Given the description of an element on the screen output the (x, y) to click on. 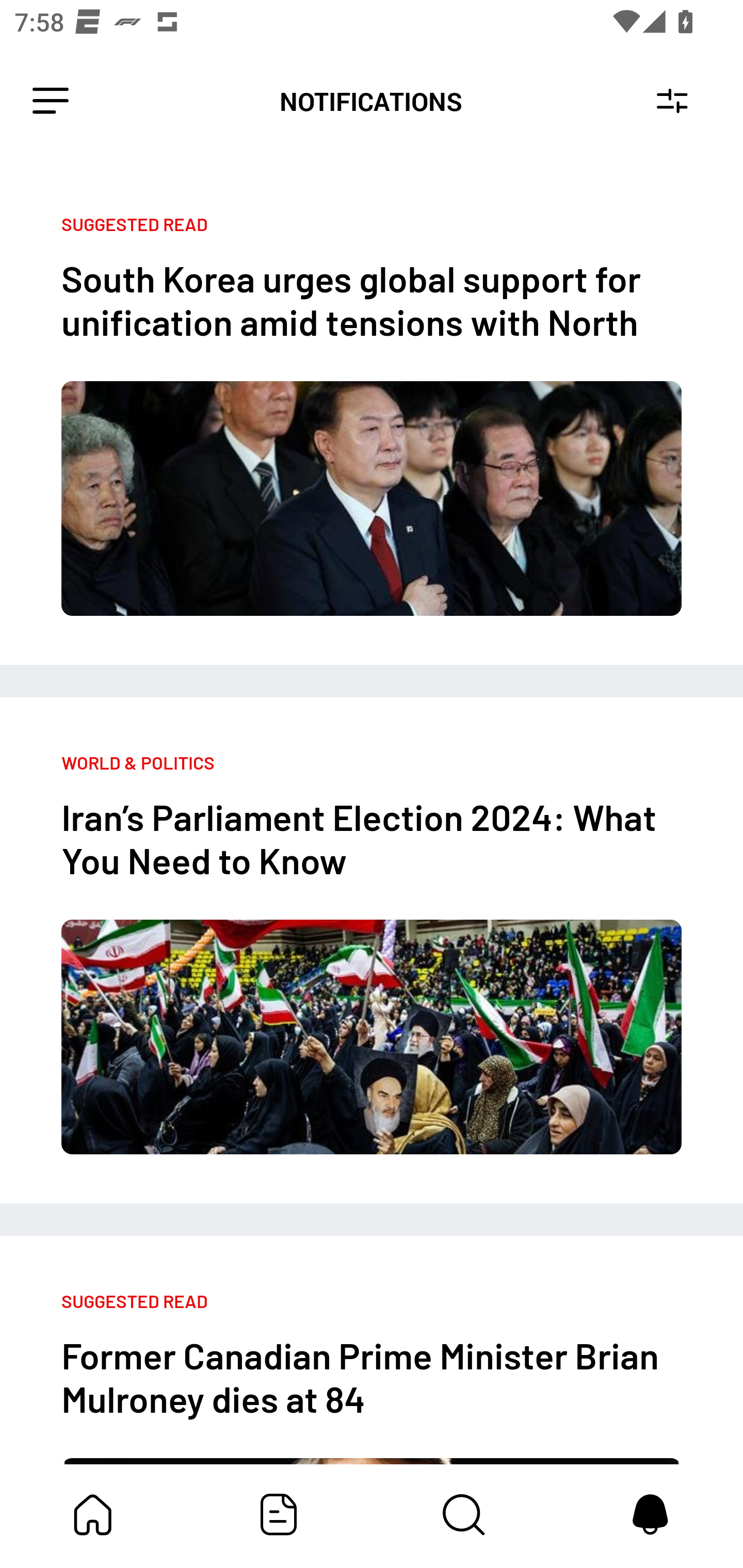
Leading Icon (50, 101)
Notification Settings (672, 101)
My Bundle (92, 1514)
Featured (278, 1514)
Content Store (464, 1514)
